Given the description of an element on the screen output the (x, y) to click on. 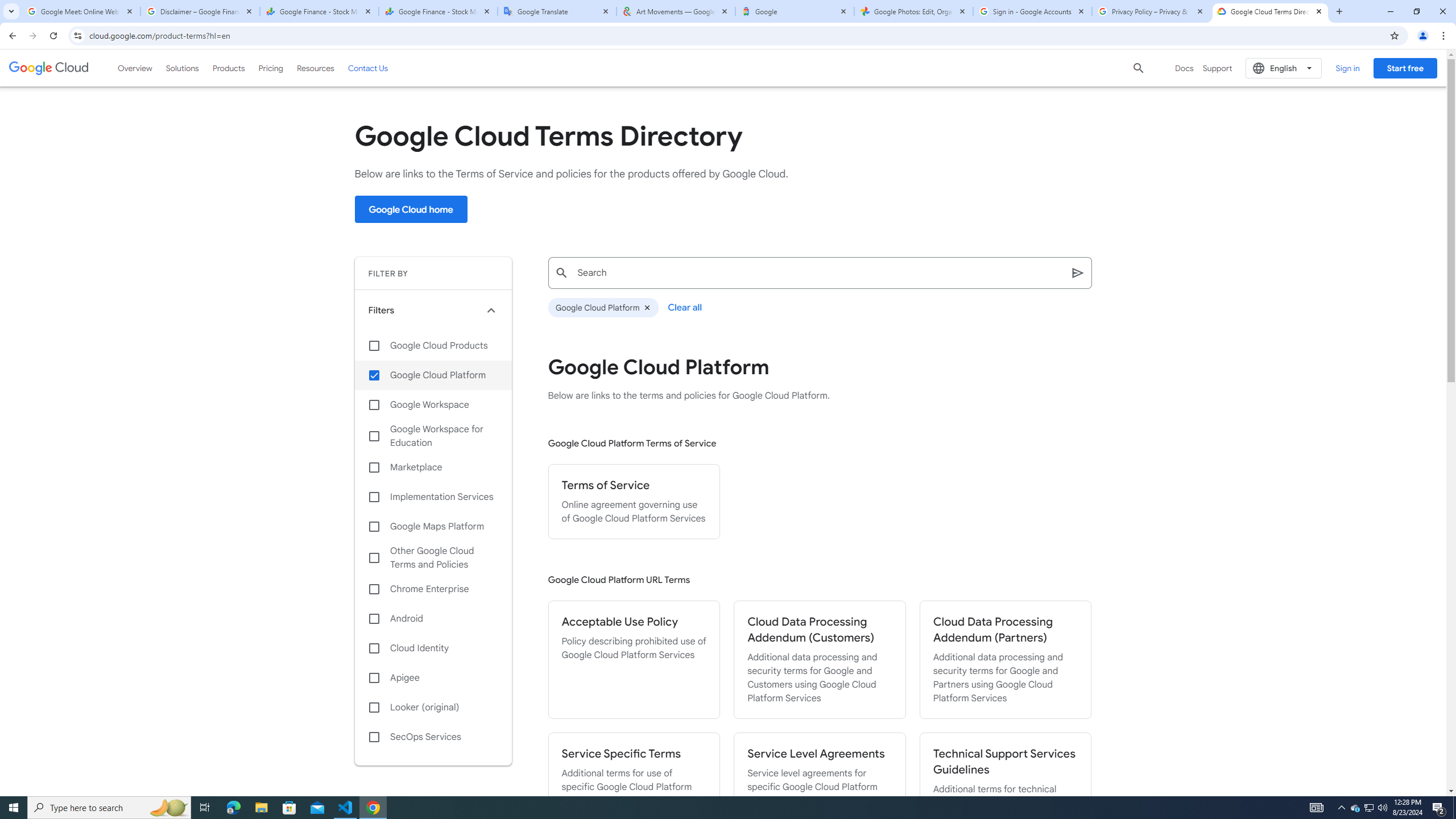
Other Google Cloud Terms and Policies (432, 557)
Implementation Services (432, 496)
Marketplace (432, 467)
